Given the description of an element on the screen output the (x, y) to click on. 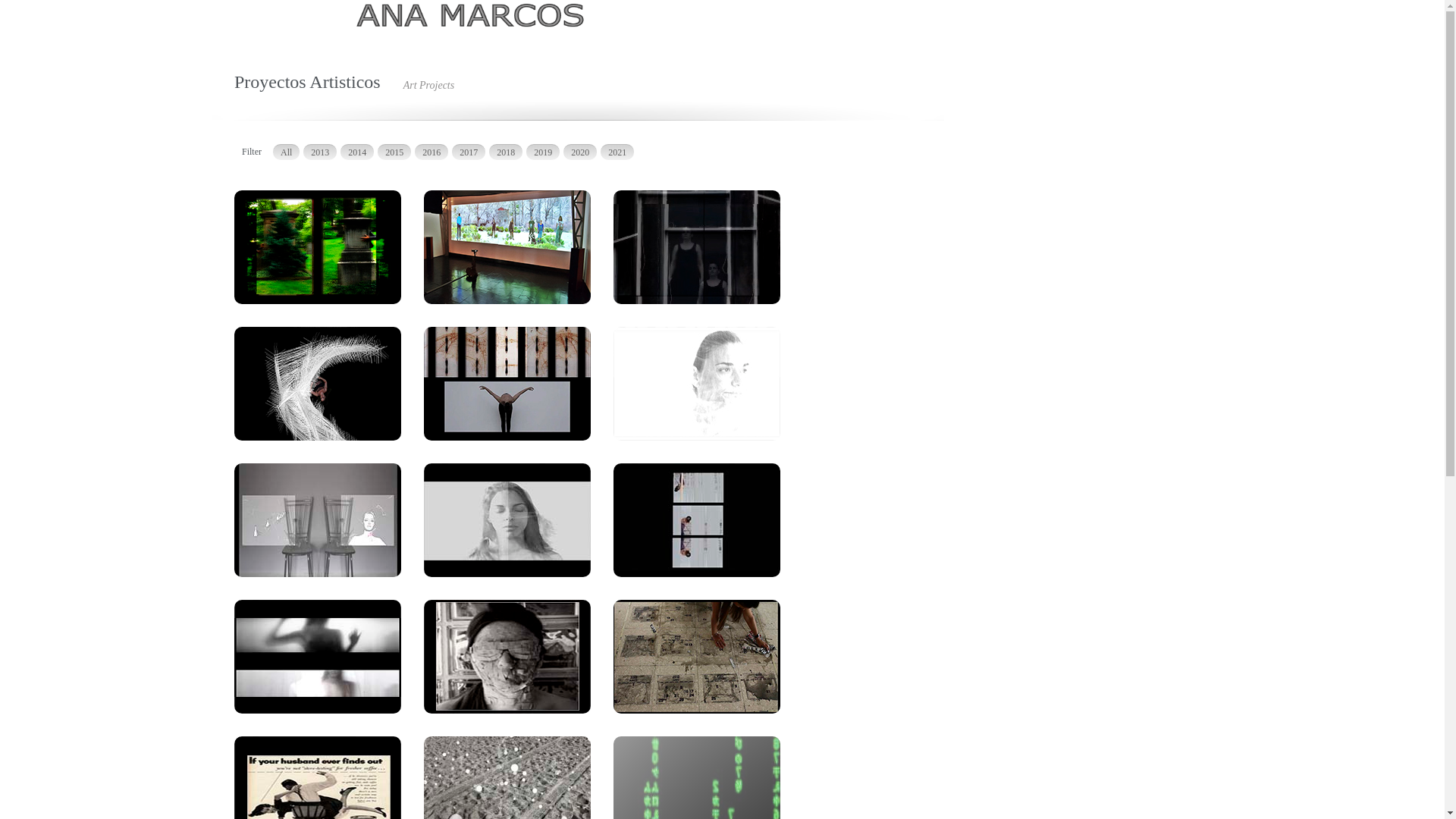
Septimana Element type: hover (696, 385)
entreVELADAS Element type: hover (317, 658)
2020 Element type: text (580, 152)
All Element type: text (285, 152)
2015 Element type: text (394, 152)
DISTANCIARSE, no tocar! Element type: hover (317, 249)
2018 Element type: text (505, 152)
2021 Element type: text (617, 152)
2019 Element type: text (542, 152)
2017 Element type: text (468, 152)
2016 Element type: text (431, 152)
inSOMNIA Element type: hover (317, 385)
Fregando el olvido Element type: hover (696, 658)
AFIRMAnegandose Element type: hover (506, 522)
PAISajes OBserVABLES Element type: hover (506, 249)
2013 Element type: text (319, 152)
Columbiana Element type: hover (506, 385)
2014 Element type: text (357, 152)
Sana_sANA Element type: hover (506, 658)
from WINDOW to WINDOW Element type: hover (696, 249)
PREdicando lo IMPosible Element type: hover (696, 522)
